Given the description of an element on the screen output the (x, y) to click on. 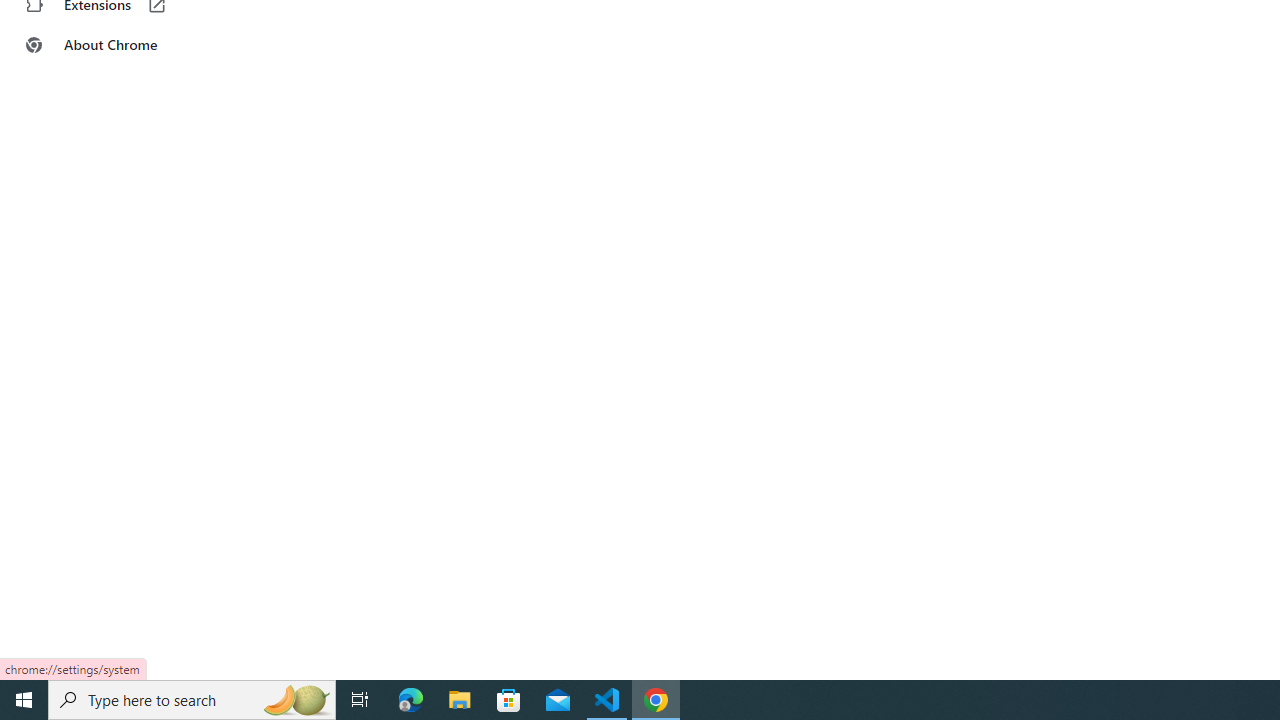
About Chrome (124, 44)
